Given the description of an element on the screen output the (x, y) to click on. 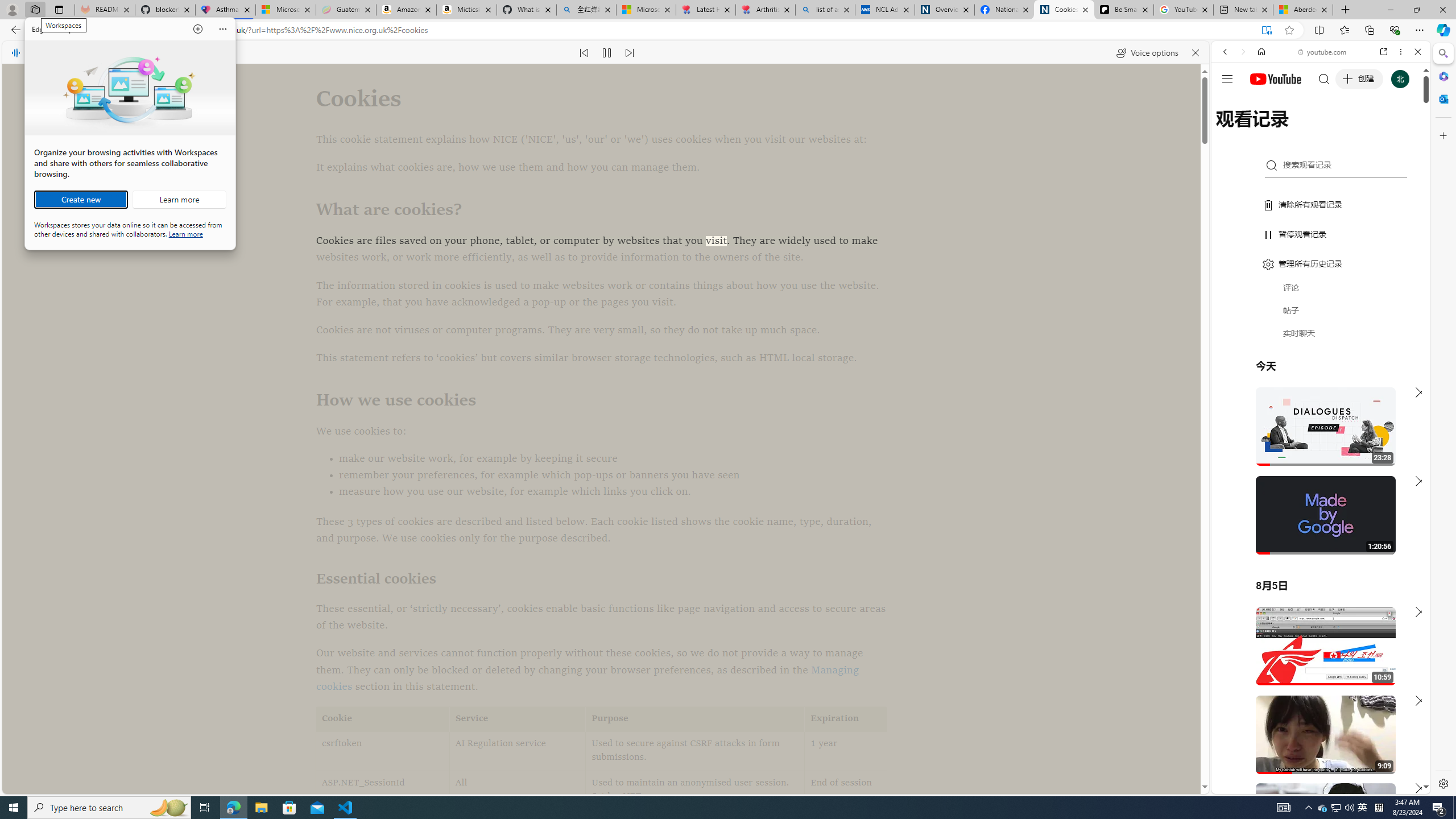
Pause read aloud (Ctrl+Shift+U) (606, 52)
csrftoken (382, 751)
WEB   (1230, 130)
Read next paragraph (628, 52)
Microsoft Store (289, 807)
list of asthma inhalers uk - Search (825, 9)
